Given the description of an element on the screen output the (x, y) to click on. 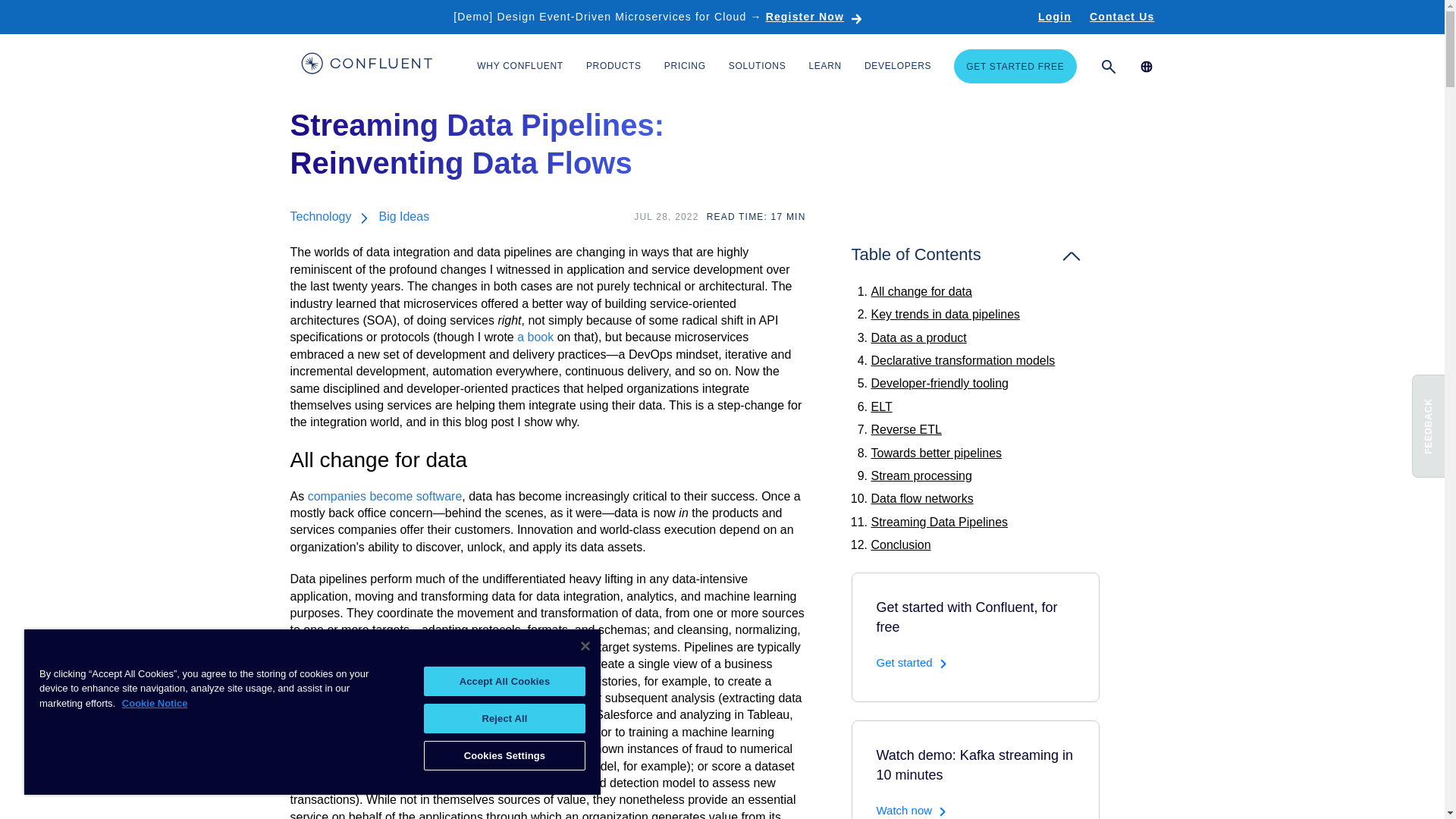
Register Now (814, 16)
Login (1054, 16)
Confluent (365, 65)
Contact Us (1121, 16)
